Given the description of an element on the screen output the (x, y) to click on. 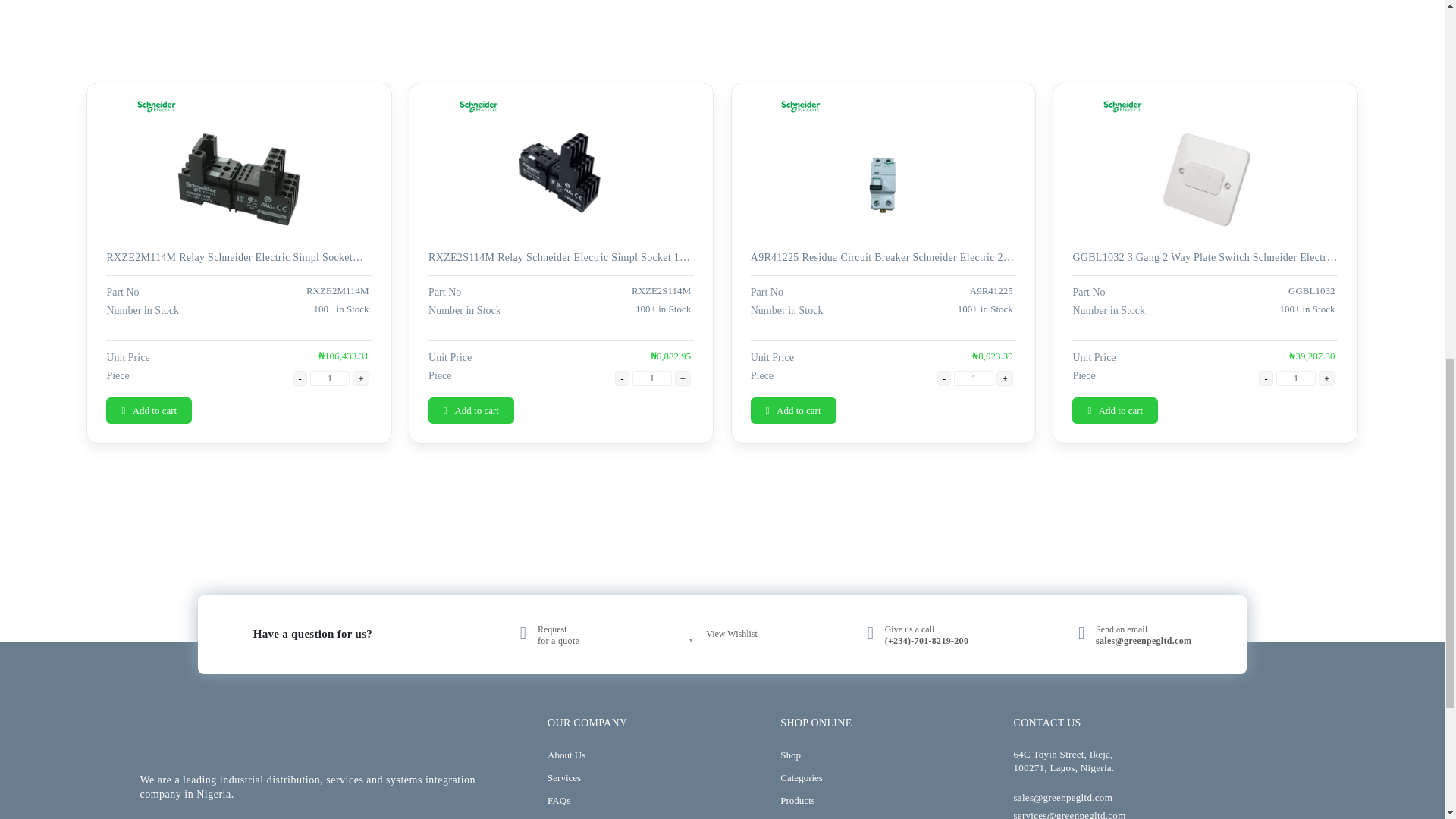
Qty (651, 378)
1 (651, 378)
Qty (329, 378)
1 (1296, 378)
A9R41225 Residua Circuit Breaker Schneider Electric 2P-25A 4 (909, 191)
1 (972, 378)
1 (329, 378)
Qty (1296, 378)
Qty (972, 378)
